Given the description of an element on the screen output the (x, y) to click on. 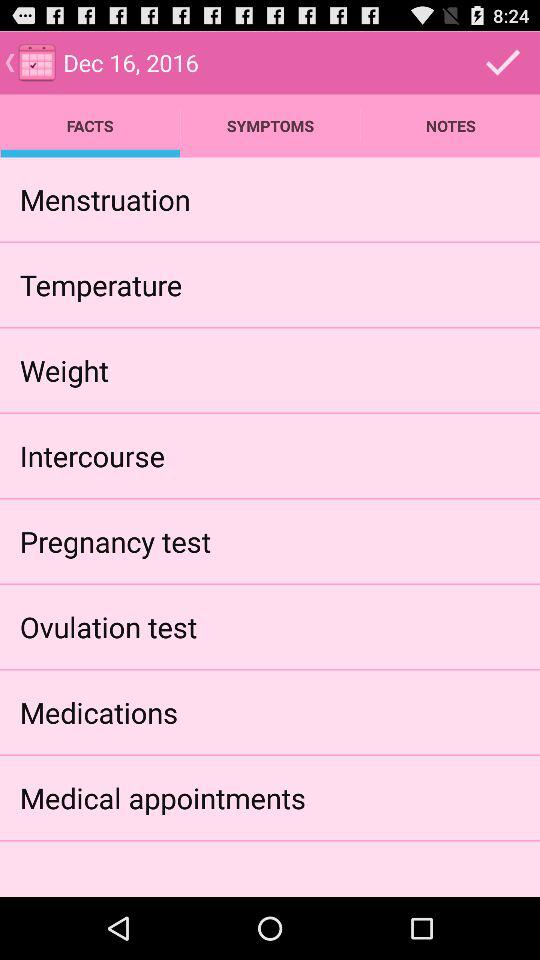
press the weight icon (63, 369)
